Given the description of an element on the screen output the (x, y) to click on. 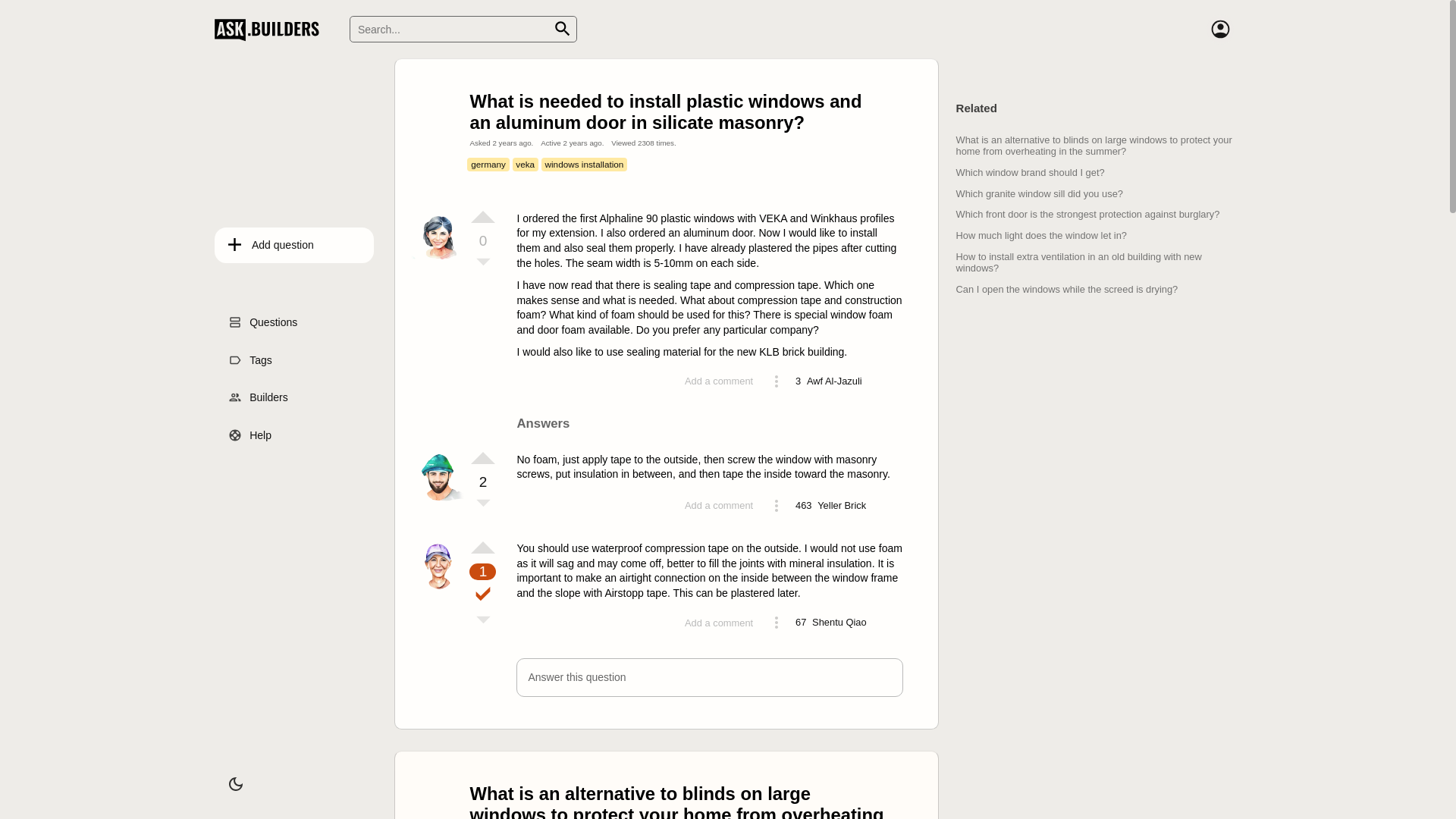
Add a comment (718, 505)
Add question (294, 244)
Questions (294, 322)
Profile (1219, 28)
This question is unclear or not useful (482, 262)
Builders (294, 397)
Add a comment (718, 380)
2022-08-13 11:49:03 (582, 142)
veka (525, 164)
Post actions menu (776, 380)
